Given the description of an element on the screen output the (x, y) to click on. 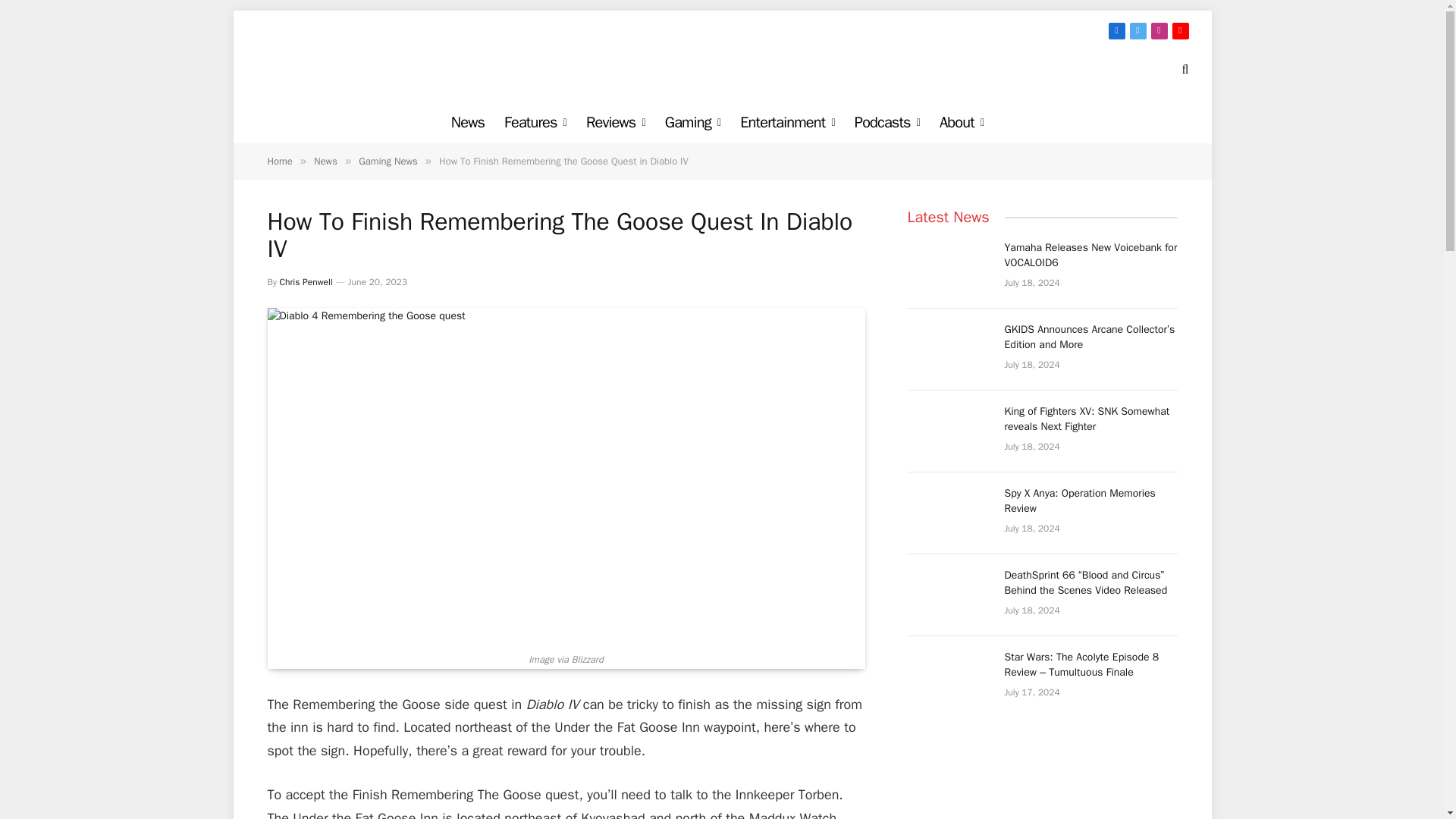
Instagram (1159, 30)
Reviews (615, 122)
The Outerhaven (722, 68)
Features (535, 122)
News (468, 122)
Posts by Chris Penwell (306, 282)
Yamaha Releases New Voicebank for VOCALOID6 (948, 267)
Facebook (1116, 30)
YouTube (1180, 30)
